Given the description of an element on the screen output the (x, y) to click on. 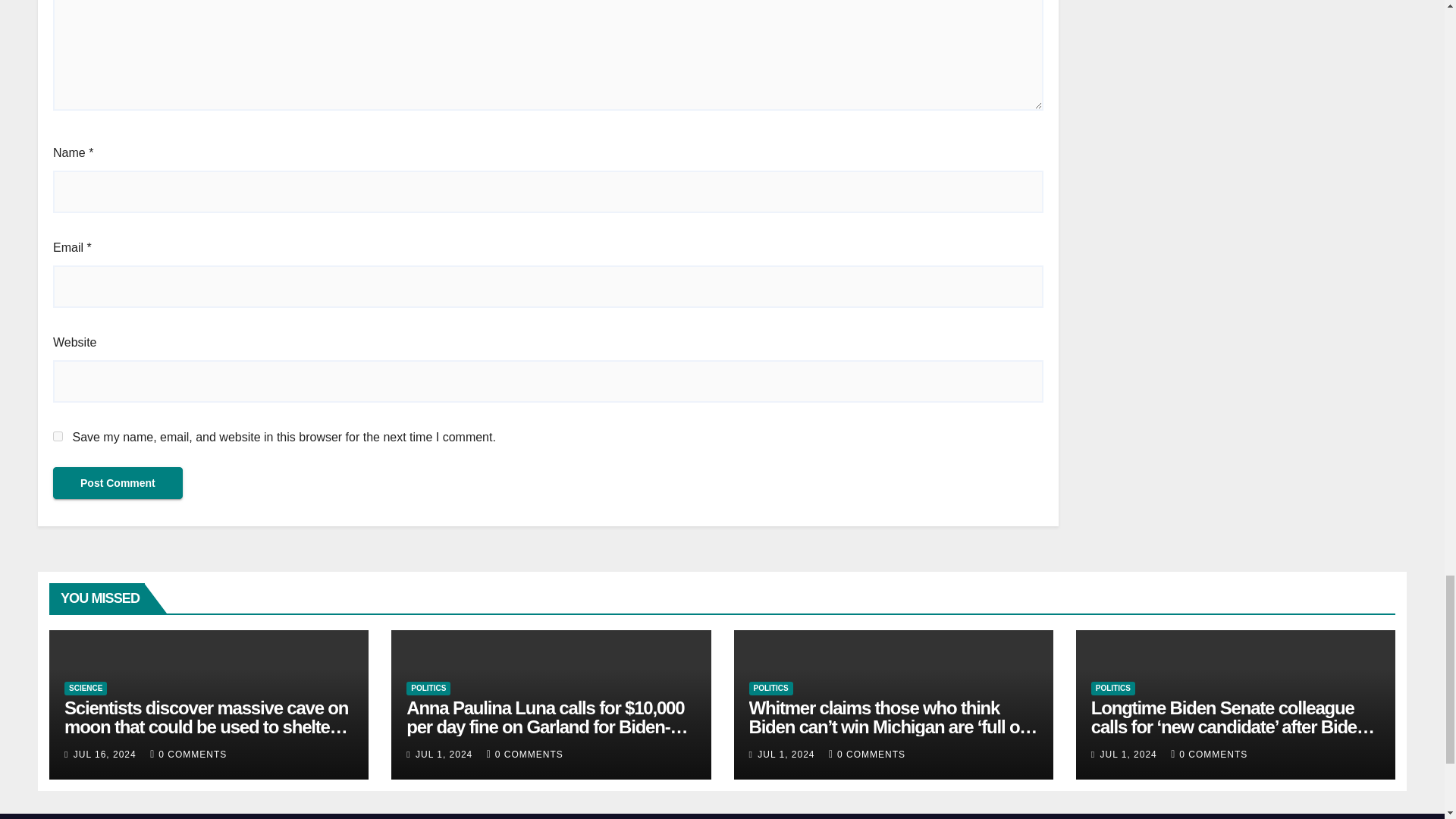
yes (57, 436)
Post Comment (117, 482)
Post Comment (117, 482)
